Given the description of an element on the screen output the (x, y) to click on. 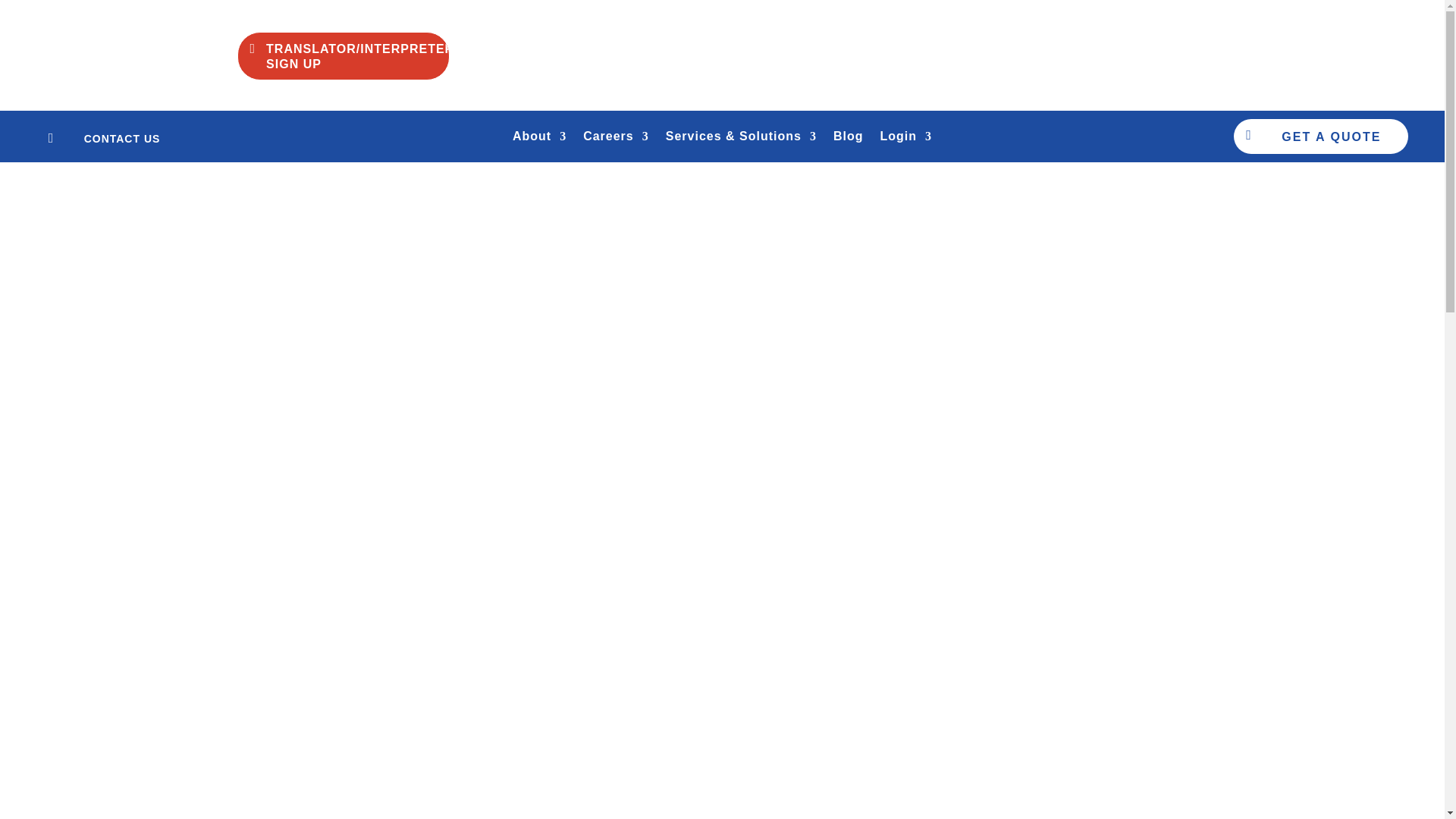
Blog (847, 139)
GET A QUOTE (1330, 136)
CONTACT US (122, 138)
logo (721, 56)
Search (1083, 468)
Careers (616, 139)
About (539, 139)
Login (905, 139)
